Given the description of an element on the screen output the (x, y) to click on. 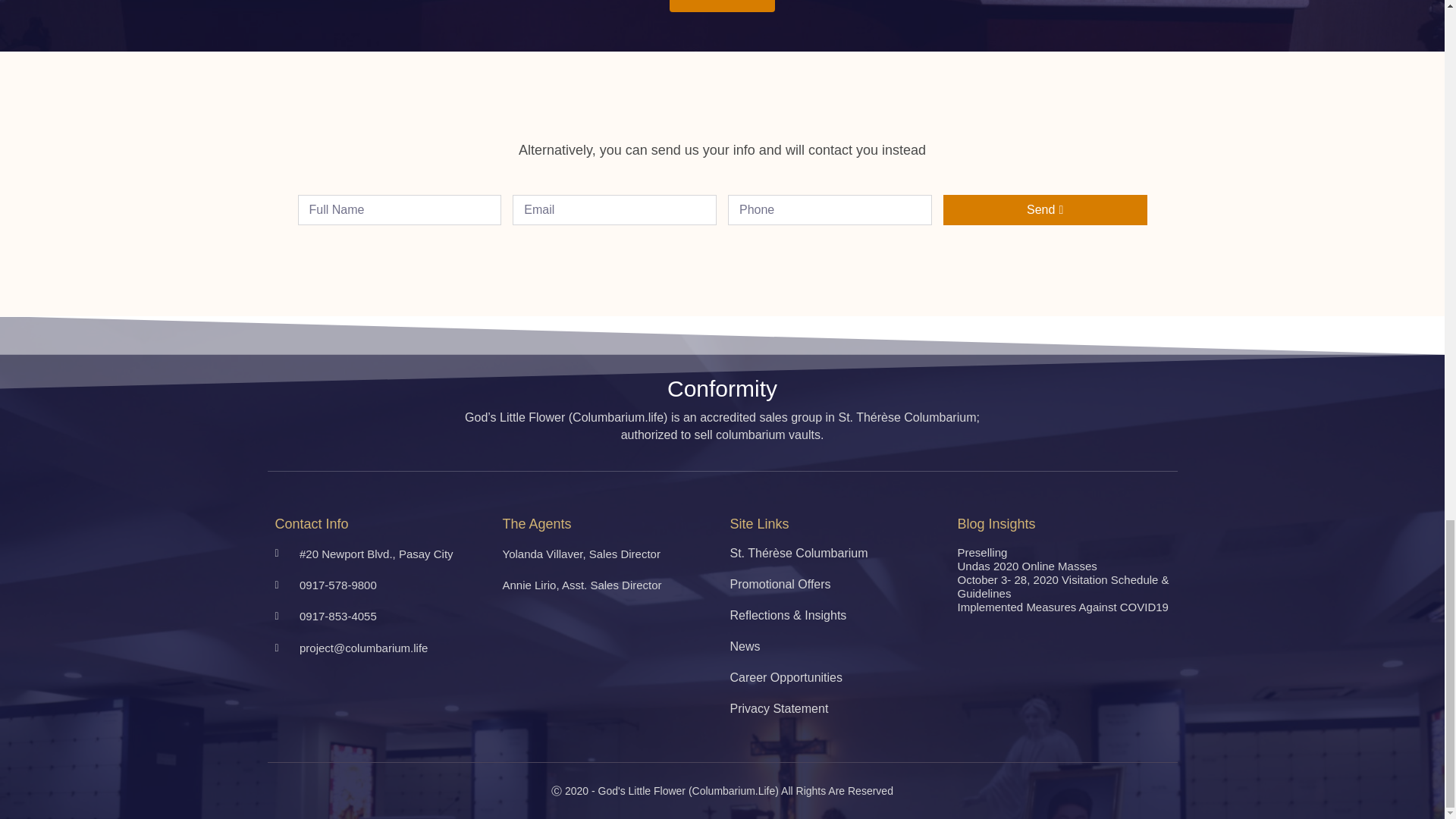
Send (1045, 209)
Chat Us (721, 6)
Promotional Offers (835, 584)
